Given the description of an element on the screen output the (x, y) to click on. 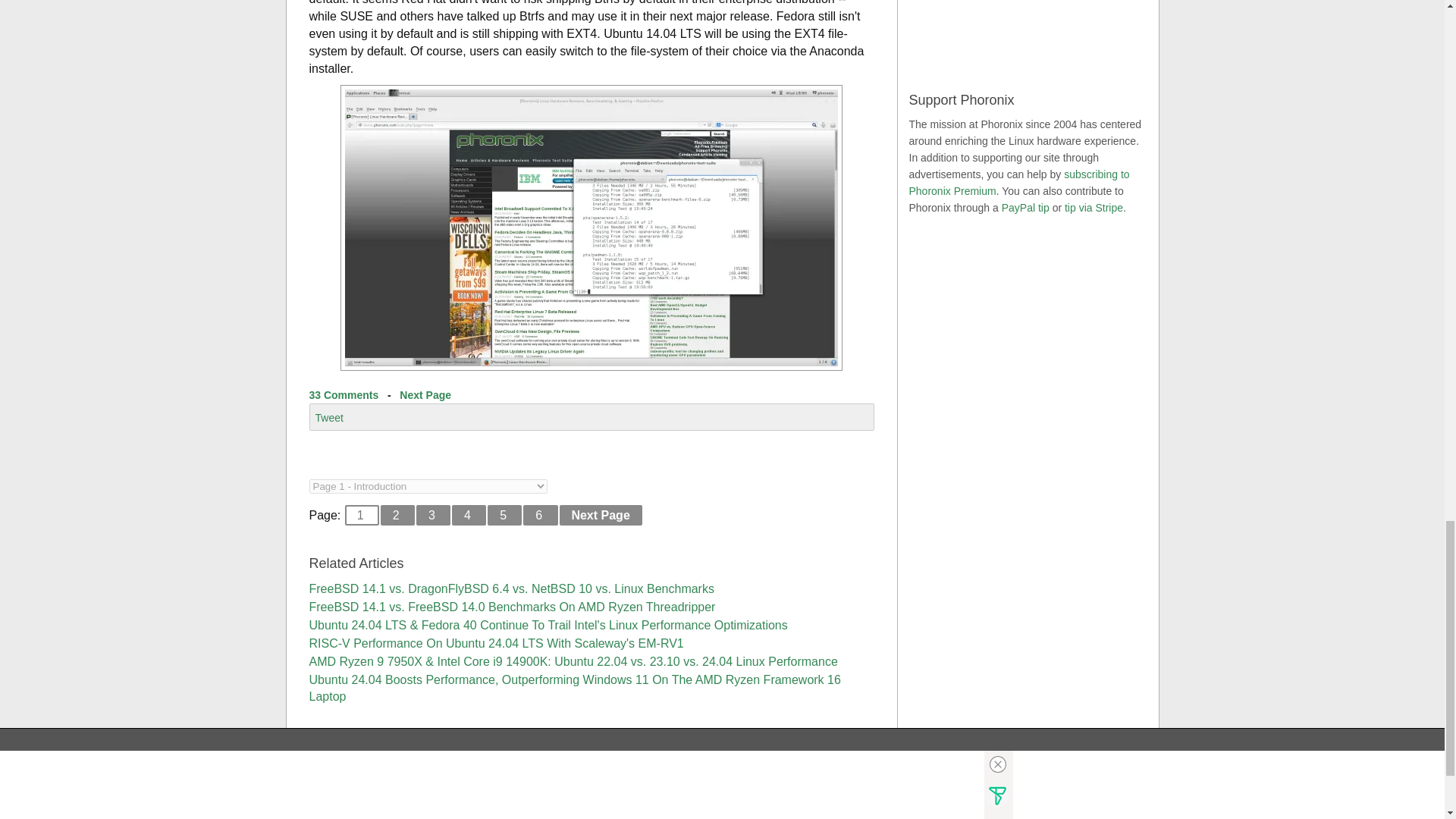
33 Comments (343, 395)
Go To Next Page (600, 515)
Go To Next Page (424, 395)
